Given the description of an element on the screen output the (x, y) to click on. 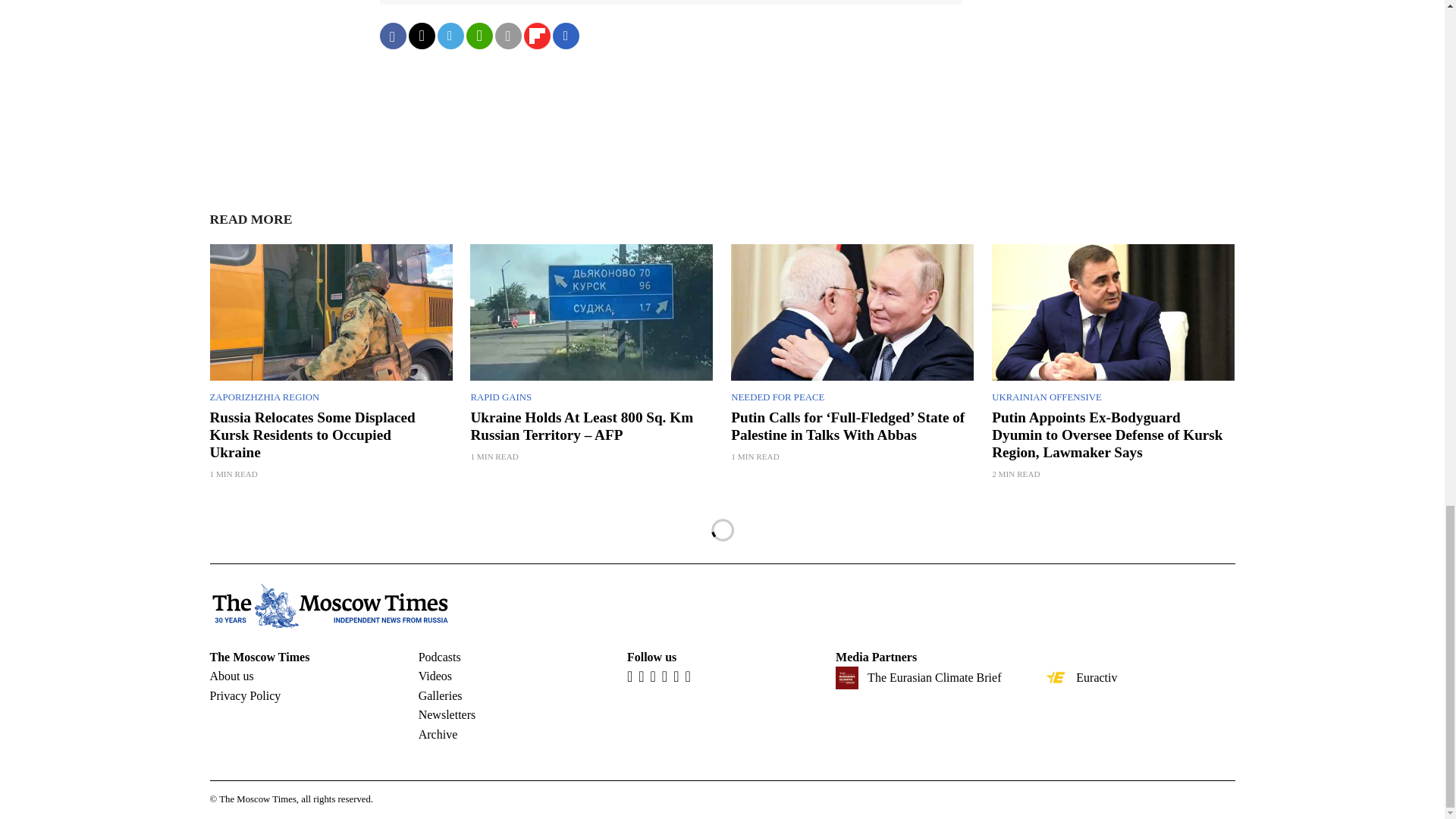
Share on Facebook (392, 35)
Share on Twitter (420, 35)
Share on Flipboard (536, 35)
Share on Telegram (449, 35)
